Given the description of an element on the screen output the (x, y) to click on. 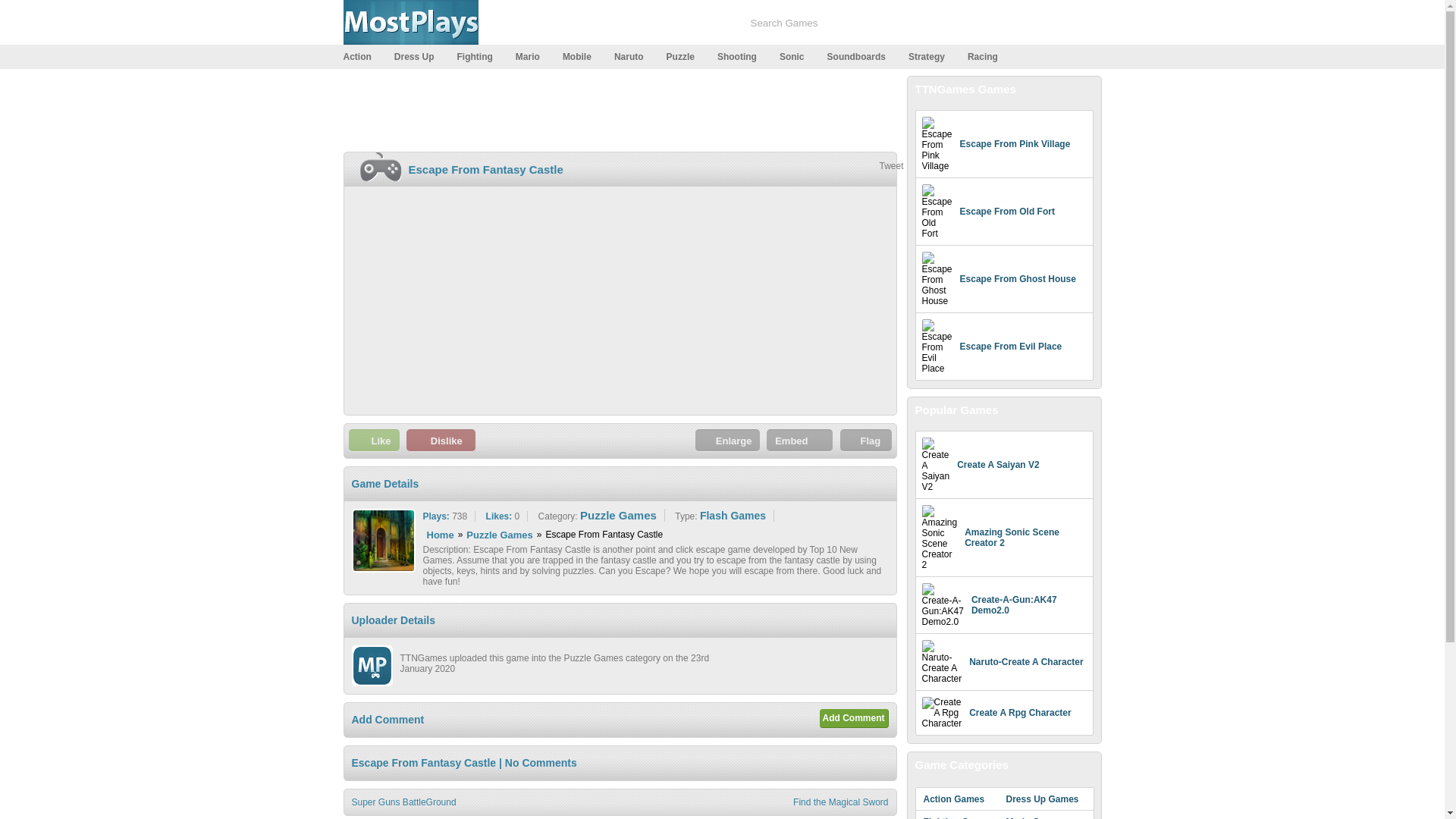
Like (373, 440)
Dress Up (419, 56)
Upload Games (601, 23)
Forums (525, 23)
Mario (533, 56)
Sign In (1028, 23)
Dislike (441, 440)
Naruto (634, 56)
Escape From Fantasy Castle (484, 169)
Tweet (890, 165)
